Given the description of an element on the screen output the (x, y) to click on. 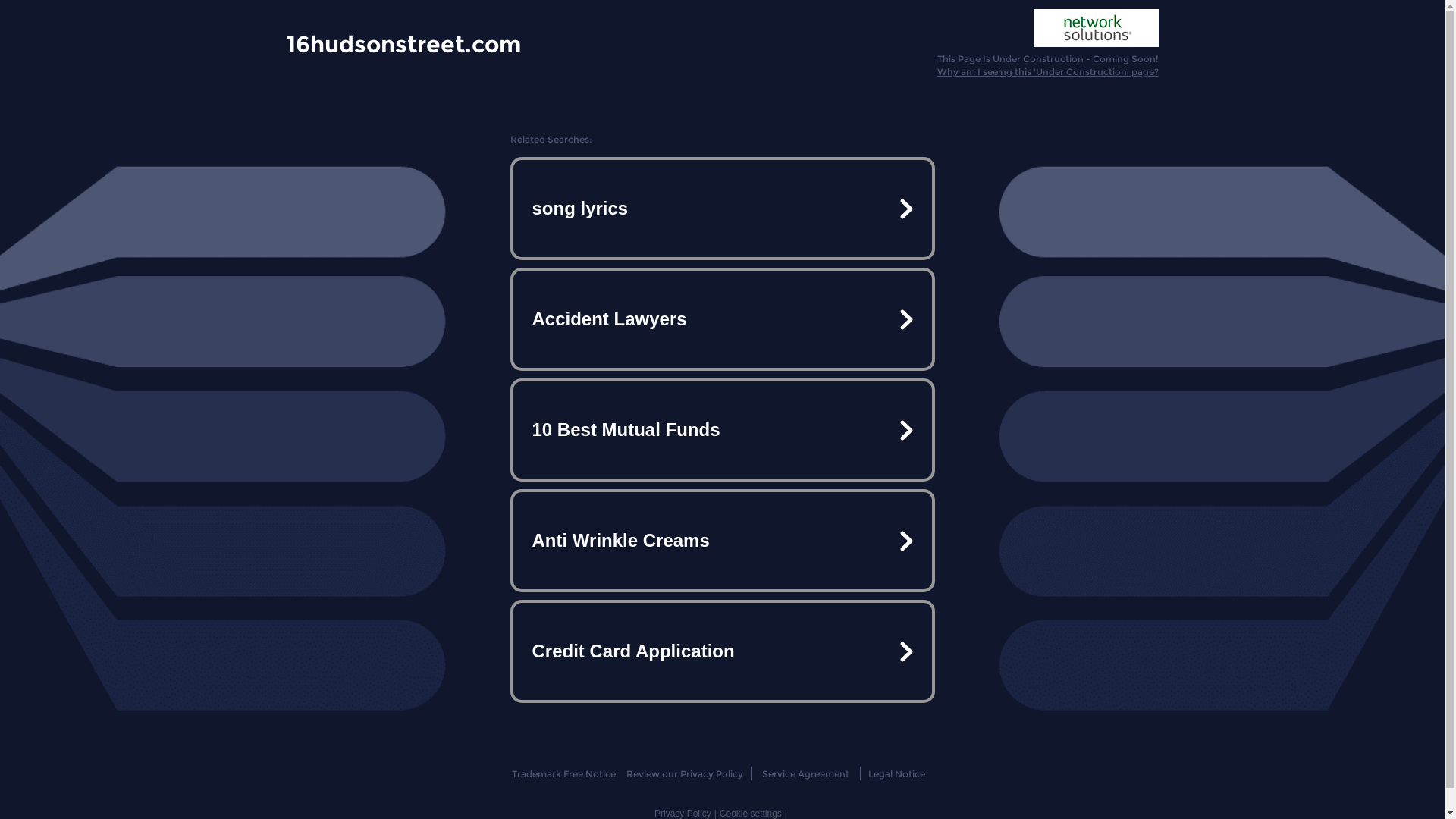
10 Best Mutual Funds Element type: text (721, 429)
Legal Notice Element type: text (896, 773)
Service Agreement Element type: text (805, 773)
Accident Lawyers Element type: text (721, 318)
16hudsonstreet.com Element type: text (403, 43)
song lyrics Element type: text (721, 208)
Review our Privacy Policy Element type: text (684, 773)
Credit Card Application Element type: text (721, 650)
Anti Wrinkle Creams Element type: text (721, 540)
Why am I seeing this 'Under Construction' page? Element type: text (1047, 71)
Trademark Free Notice Element type: text (563, 773)
